Given the description of an element on the screen output the (x, y) to click on. 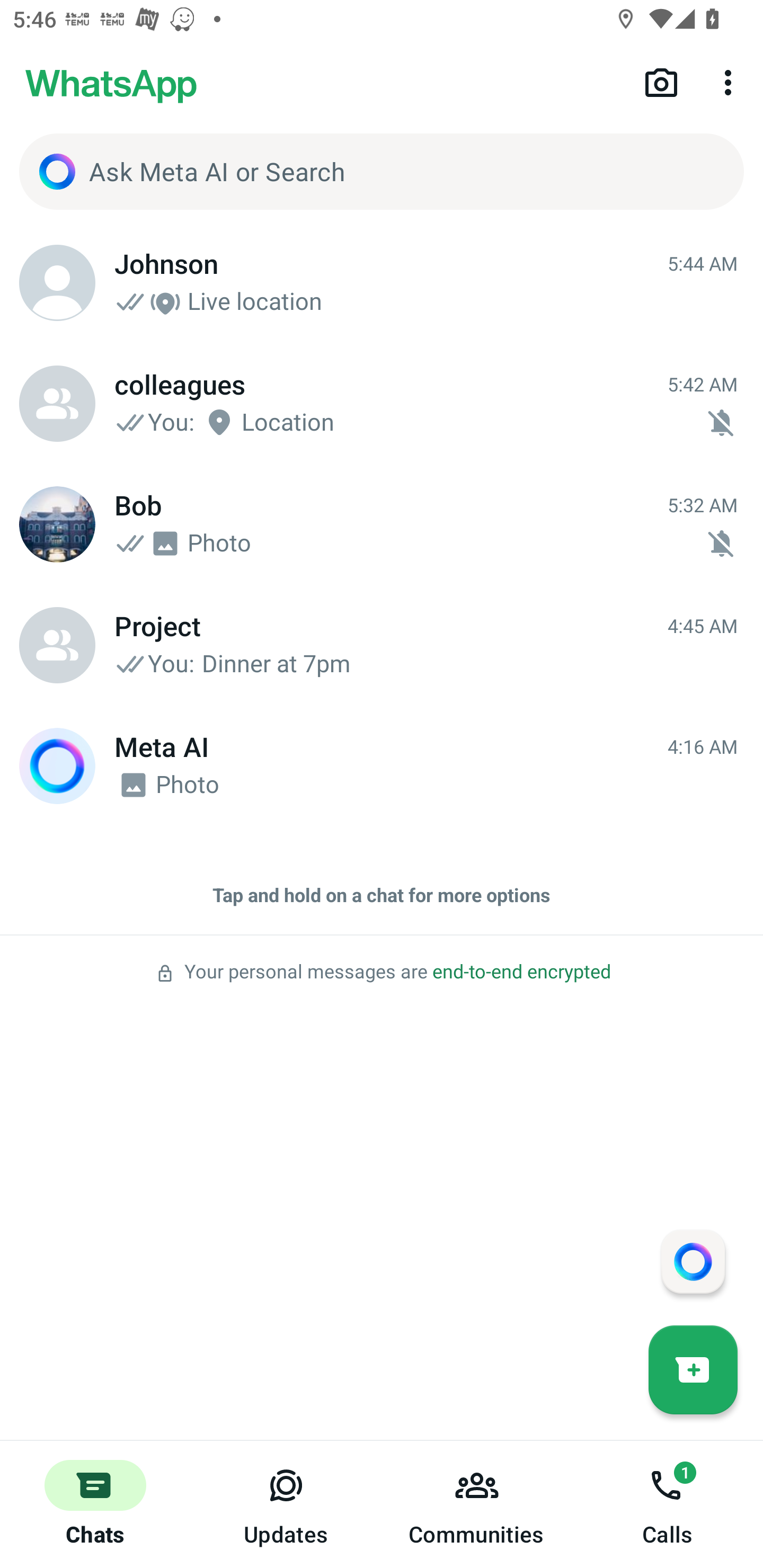
Camera (661, 81)
More options (731, 81)
Johnson Johnson 5:44 AM 5:44 AM Live location (381, 282)
Johnson (57, 282)
colleagues (57, 403)
Bob Bob 5:32 AM 5:32 AM Photo Mute notifications (381, 524)
Bob (57, 524)
Project (57, 644)
Meta AI Meta AI 4:16 AM 4:16 AM Photo (381, 765)
Meta AI (57, 765)
end-to-end encrypted (521, 972)
Message your assistant (692, 1261)
New chat (692, 1369)
Updates (285, 1504)
Communities (476, 1504)
Calls, 1 new notification Calls (667, 1504)
